Given the description of an element on the screen output the (x, y) to click on. 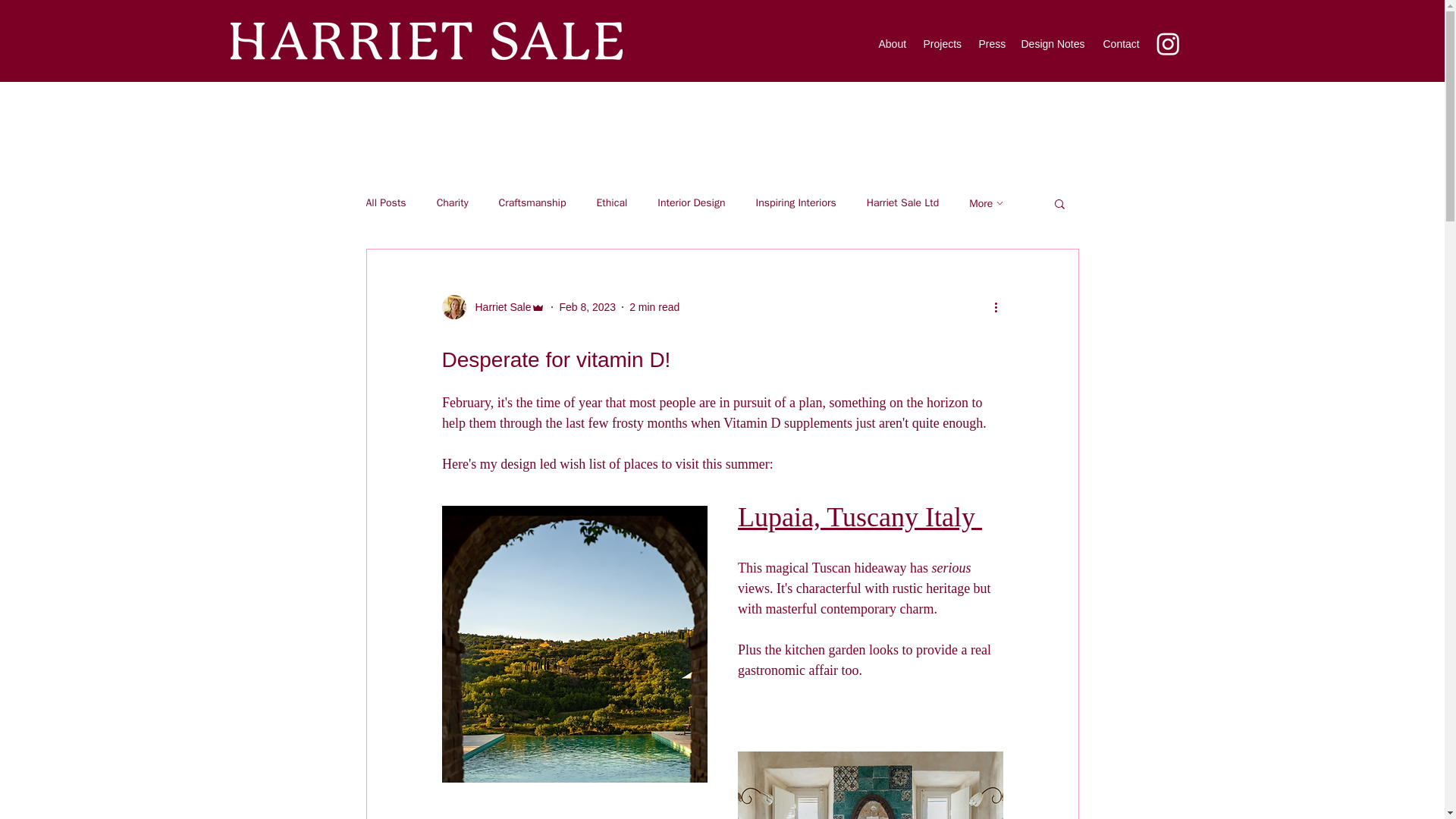
Home (426, 40)
Ethical (611, 202)
All Posts (385, 202)
Harriet Sale (498, 306)
Interior Design (691, 202)
Contact (1122, 43)
Harriet Sale Ltd (902, 202)
2 min read (653, 306)
Charity (452, 202)
Design Notes (1053, 43)
Feb 8, 2023 (587, 306)
Craftsmanship (532, 202)
Lupaia, Tuscany Italy  (858, 521)
Harriet Sale (492, 306)
Projects (943, 43)
